Given the description of an element on the screen output the (x, y) to click on. 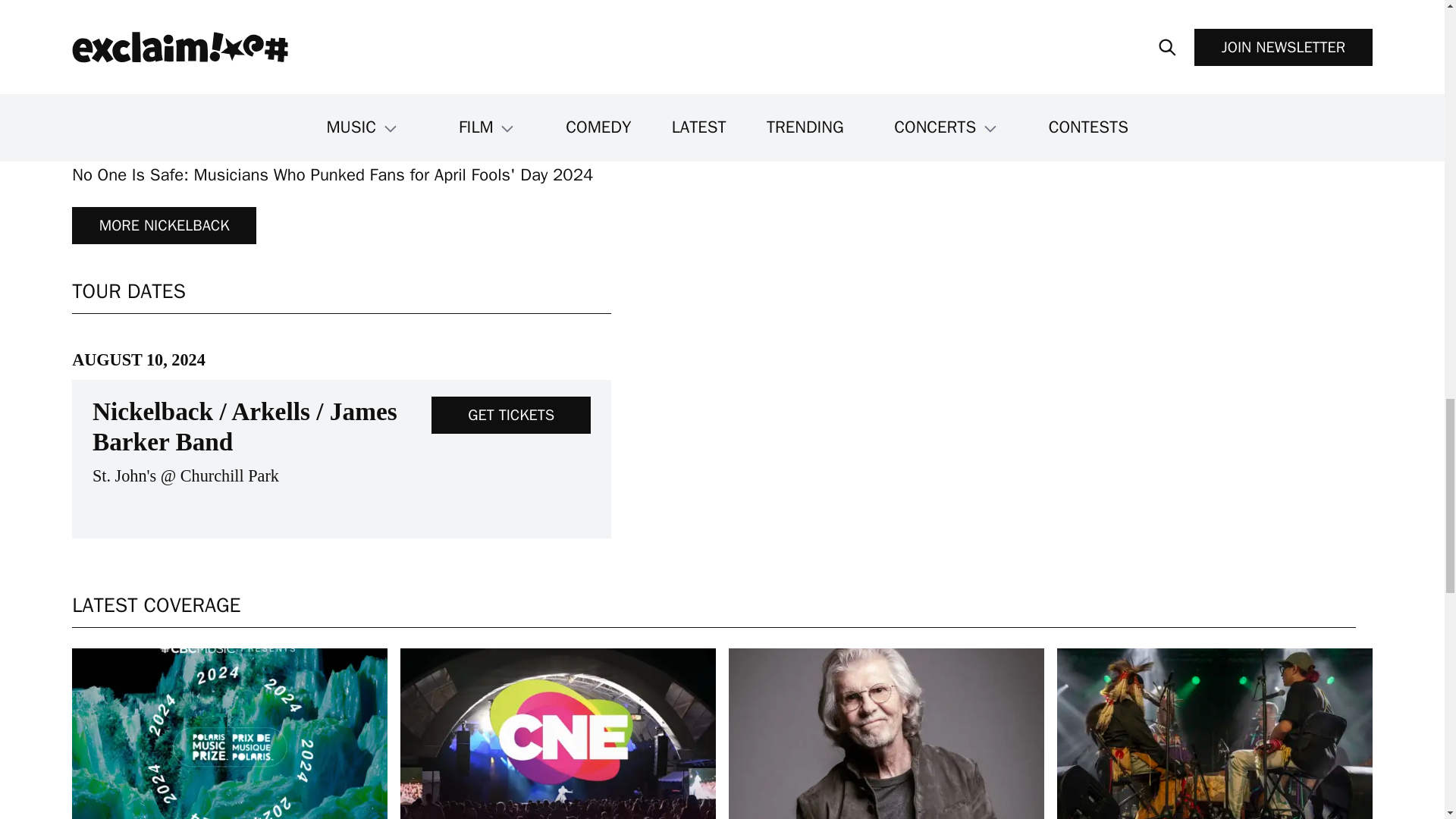
Nickelback and Arkells Announce Newfoundland Show (269, 131)
GET TICKETS (510, 415)
Here's the Polaris Music Prize 2024 Short List (229, 733)
MORE NICKELBACK (163, 225)
